Given the description of an element on the screen output the (x, y) to click on. 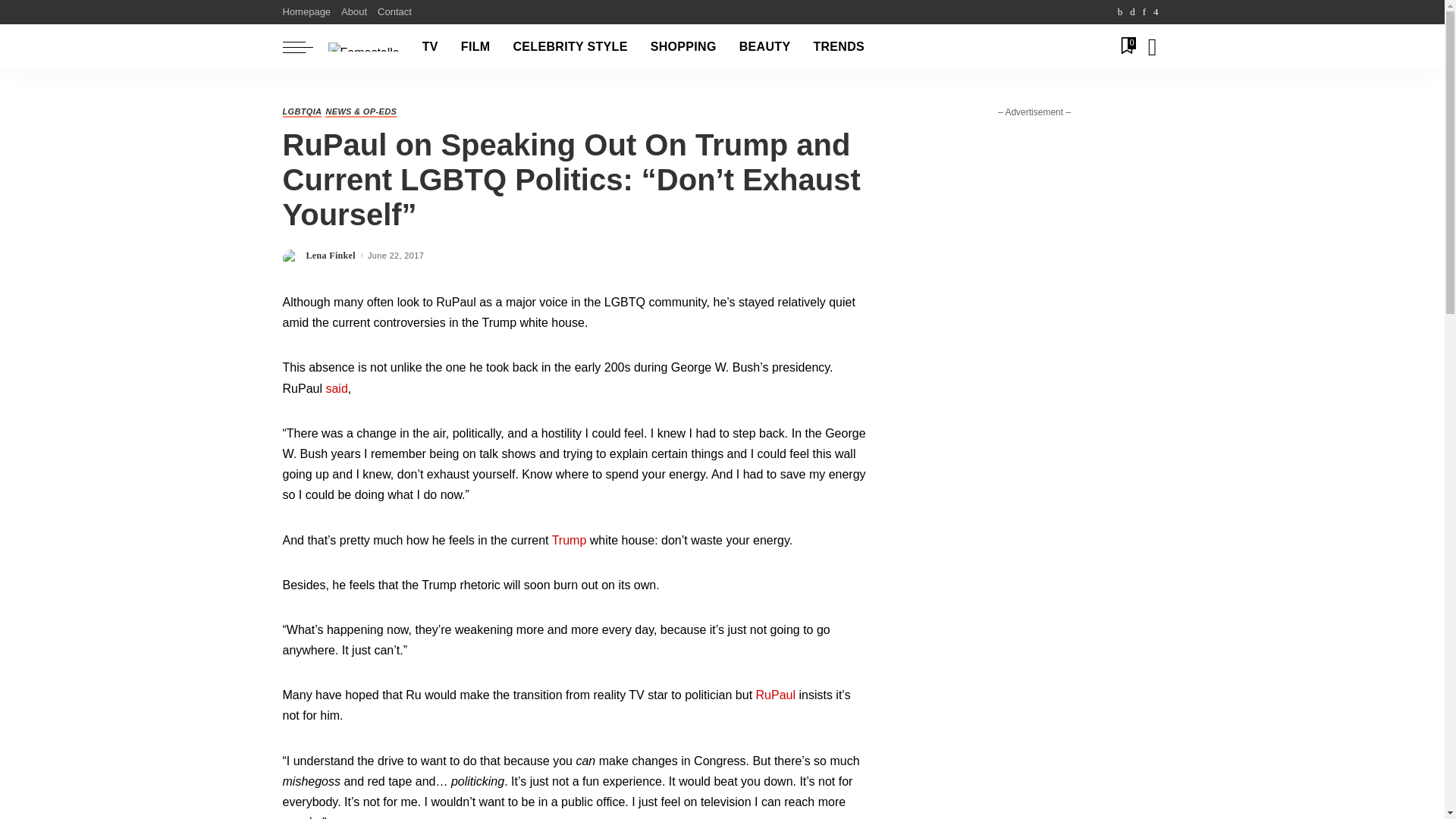
About (354, 11)
BEAUTY (765, 46)
CELEBRITY STYLE (569, 46)
TRENDS (839, 46)
FILM (475, 46)
Homepage (309, 11)
SHOPPING (683, 46)
Contact (394, 11)
Femestella (362, 46)
Search (1140, 100)
